Given the description of an element on the screen output the (x, y) to click on. 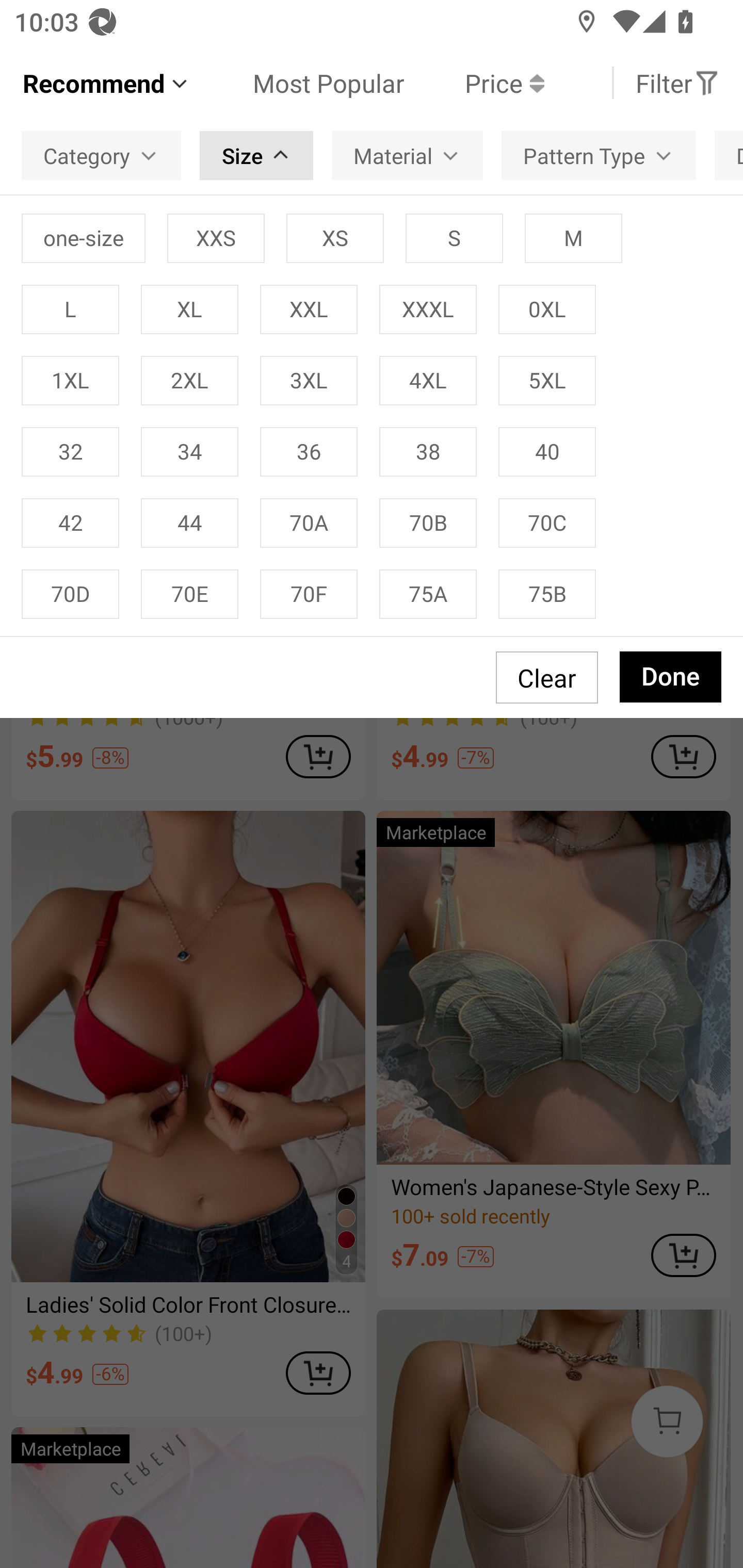
Recommend (106, 82)
Most Popular (297, 82)
Price (474, 82)
Filter (677, 82)
Category (101, 155)
Size (256, 155)
Material (407, 155)
Pattern Type (598, 155)
